Given the description of an element on the screen output the (x, y) to click on. 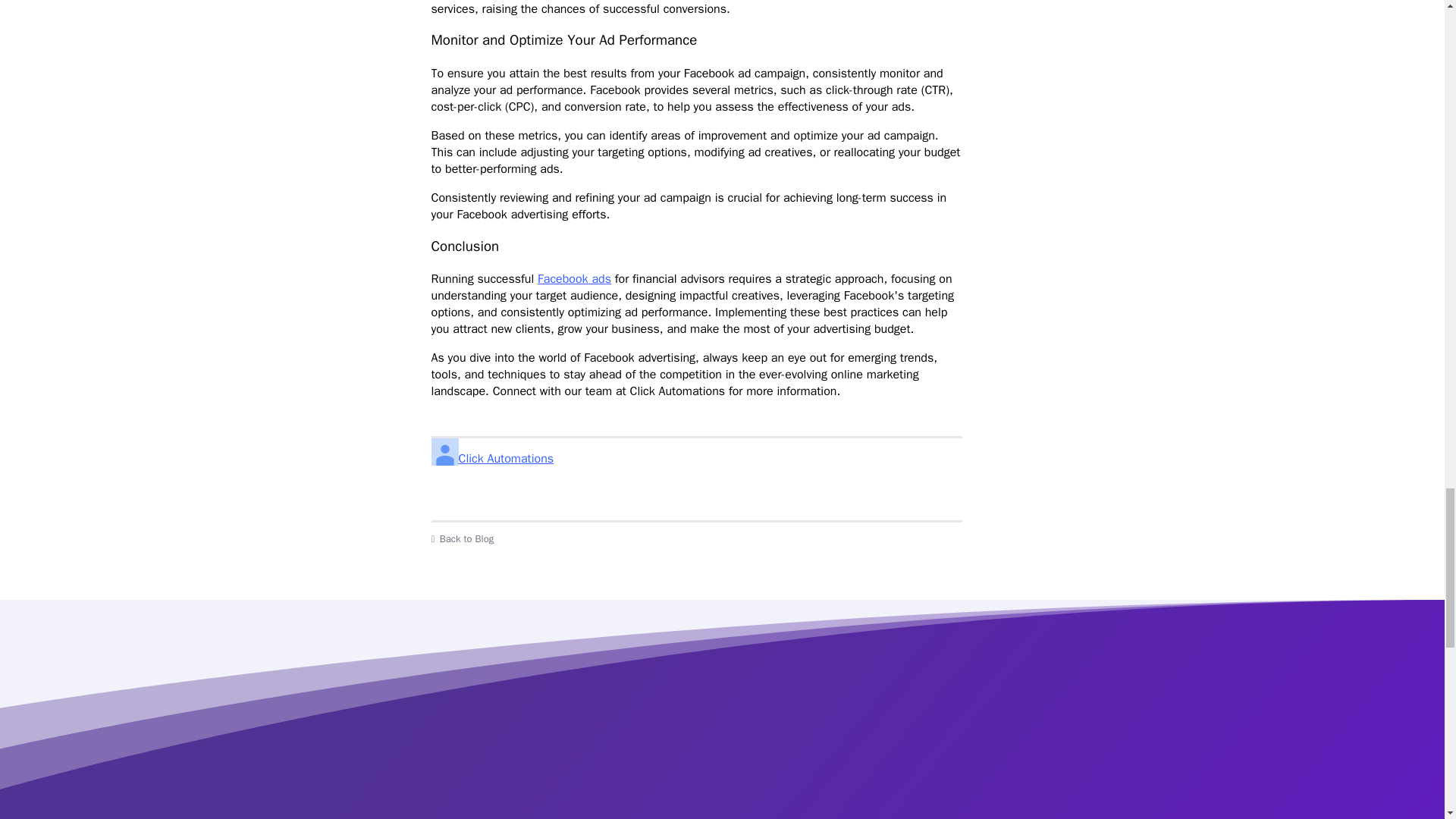
Click Automations (695, 458)
Facebook ads (574, 278)
Back to Blog (695, 539)
